Given the description of an element on the screen output the (x, y) to click on. 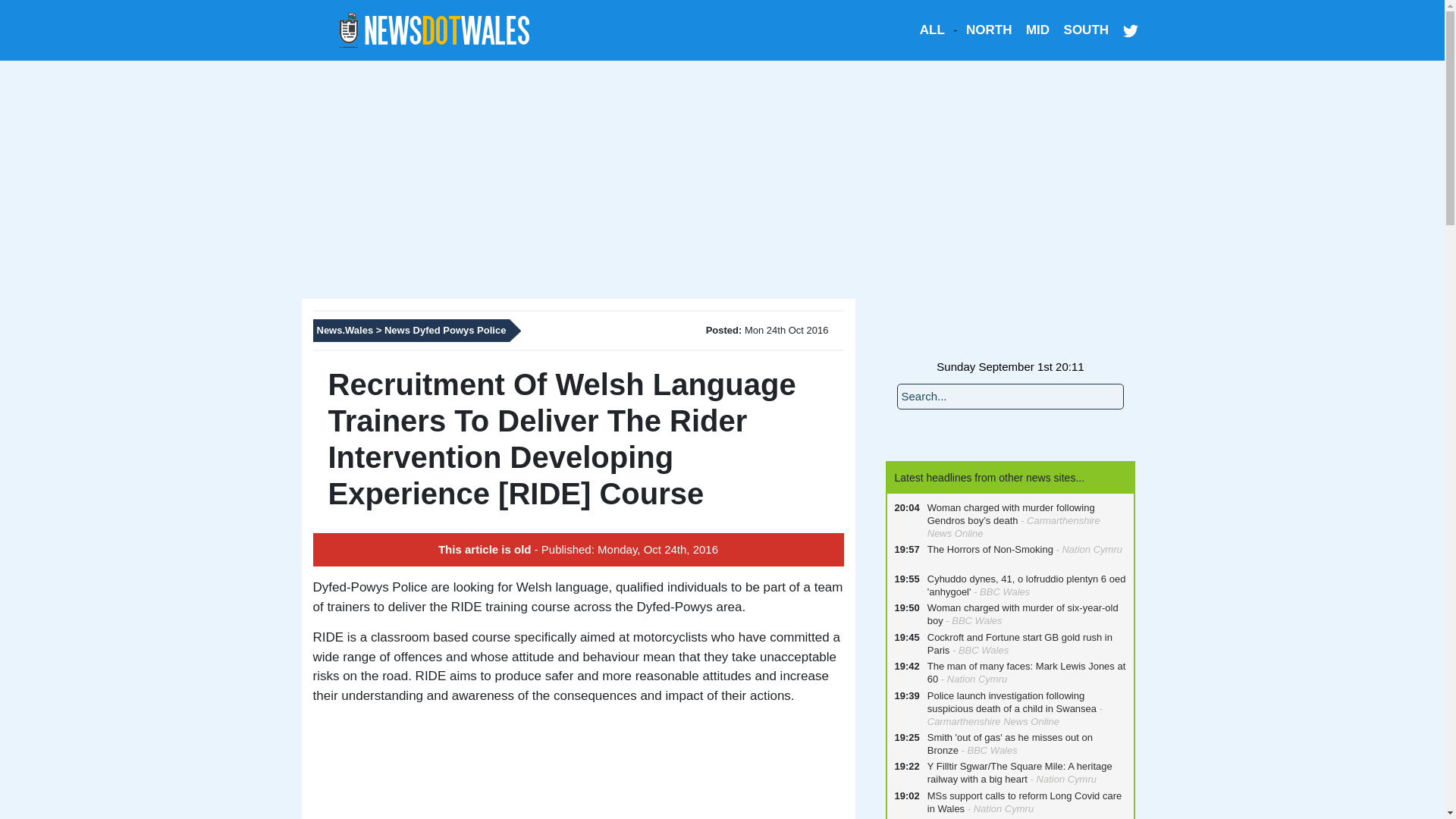
SOUTH (1086, 29)
The Horrors of Non-Smoking - Nation Cymru (1021, 555)
ALL (932, 29)
Smith 'out of gas' as he misses out on Bronze - BBC Wales (1023, 744)
MID (1037, 29)
Cockroft and Fortune start GB gold rush in Paris - BBC Wales (1023, 643)
The man of many faces: Mark Lewis Jones at 60 - Nation Cymru (1023, 673)
